Given the description of an element on the screen output the (x, y) to click on. 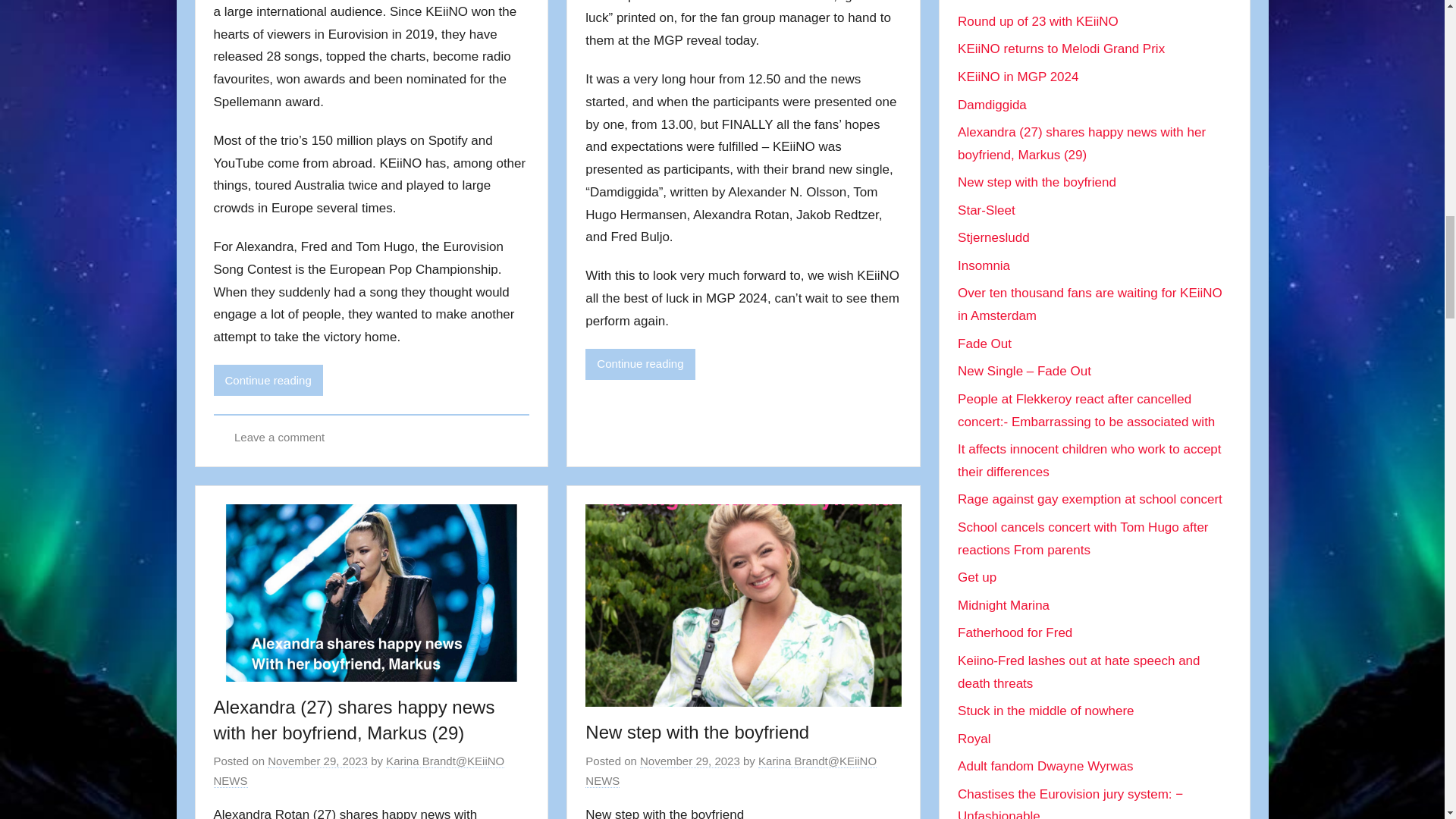
Leave a comment (279, 436)
Continue reading (639, 364)
November 29, 2023 (317, 761)
Continue reading (268, 379)
